Given the description of an element on the screen output the (x, y) to click on. 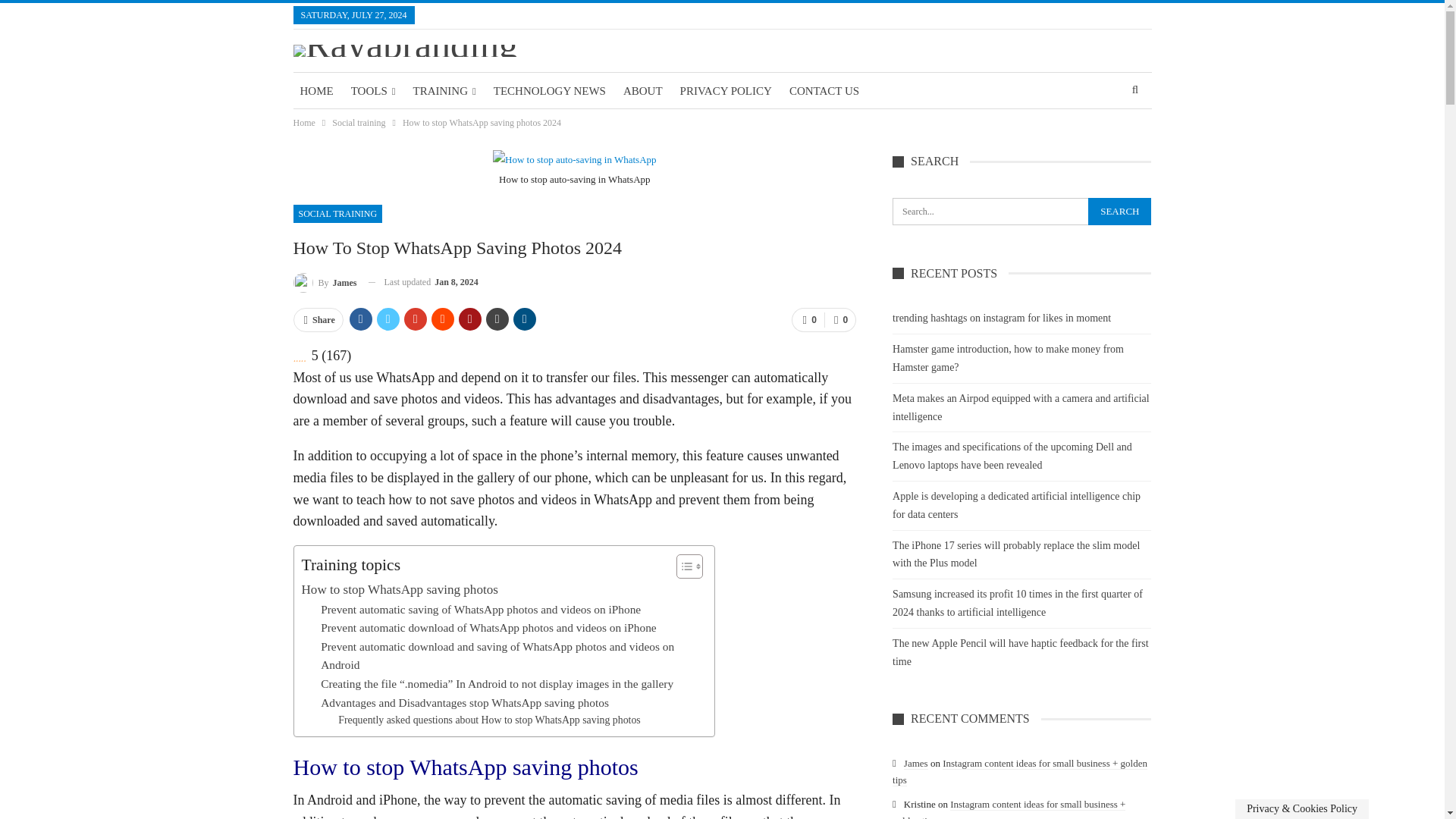
TRAINING (443, 90)
TOOLS (373, 90)
Home (303, 122)
ABOUT (642, 90)
HOME (315, 90)
Social training (358, 122)
PRIVACY POLICY (725, 90)
Search (1119, 211)
Advantages and Disadvantages stop WhatsApp saving photos (464, 702)
CONTACT US (824, 90)
